Given the description of an element on the screen output the (x, y) to click on. 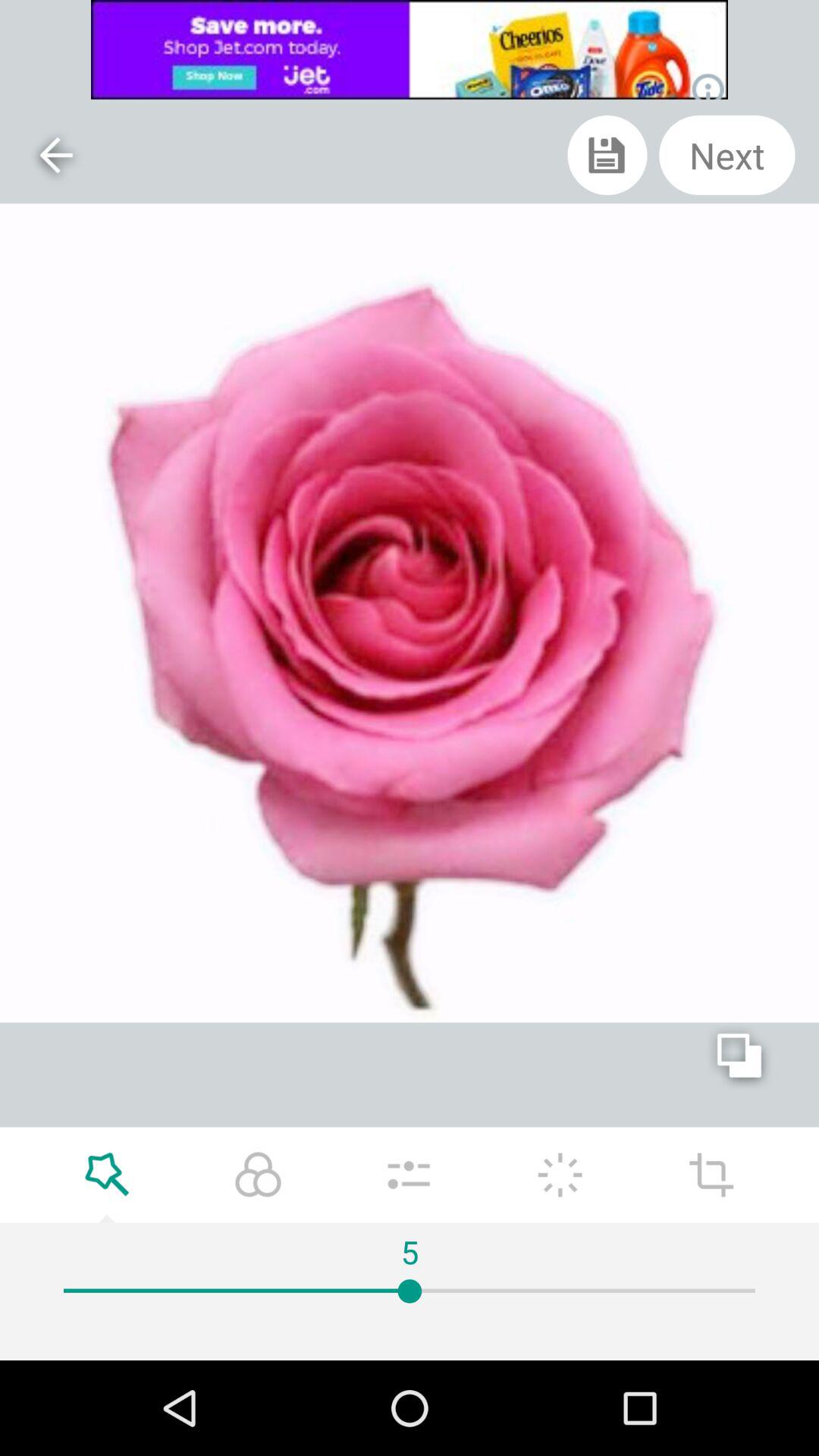
auto enhance (559, 1174)
